Given the description of an element on the screen output the (x, y) to click on. 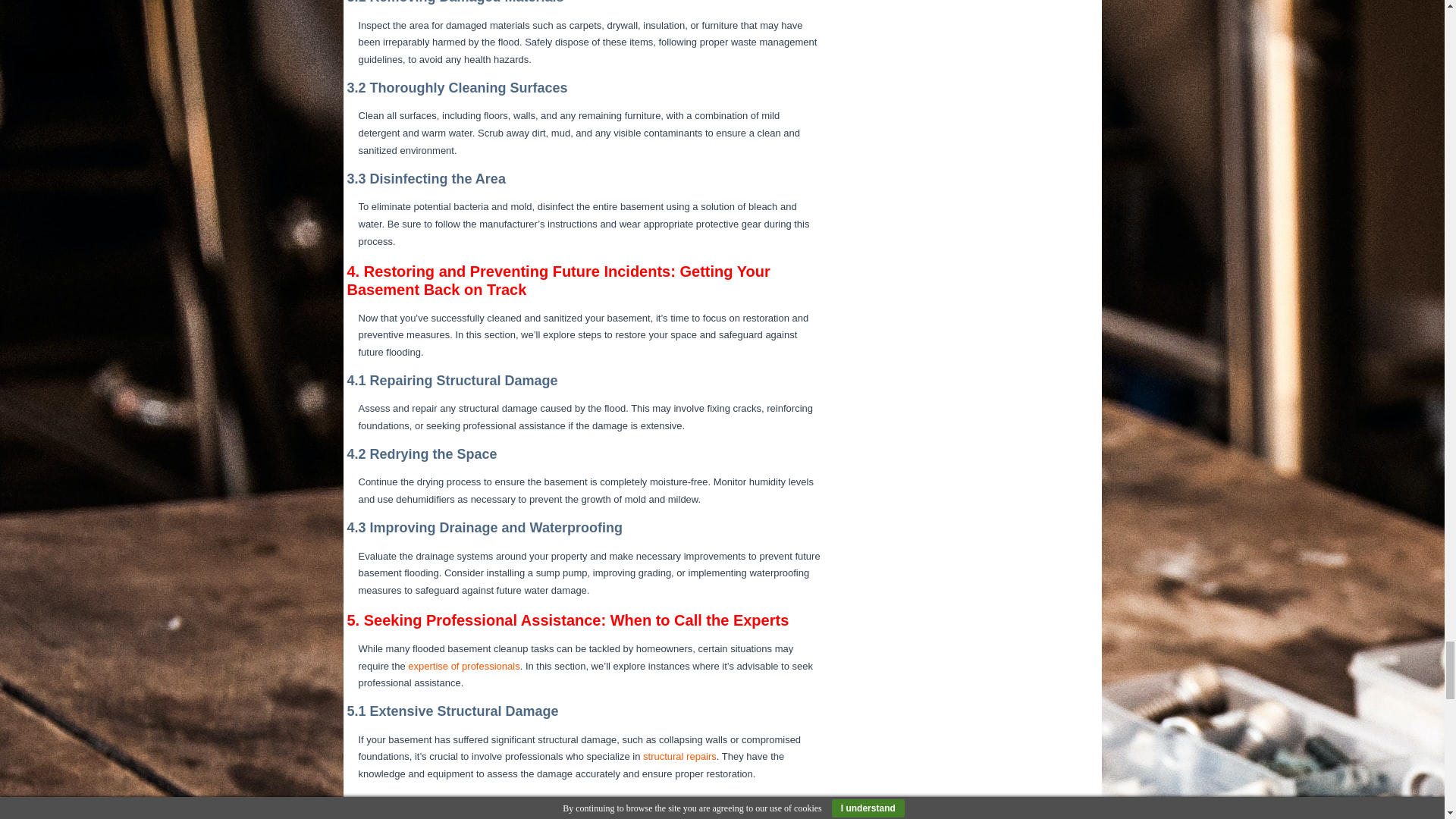
expertise of professionals (463, 665)
structural repairs (679, 756)
